Given the description of an element on the screen output the (x, y) to click on. 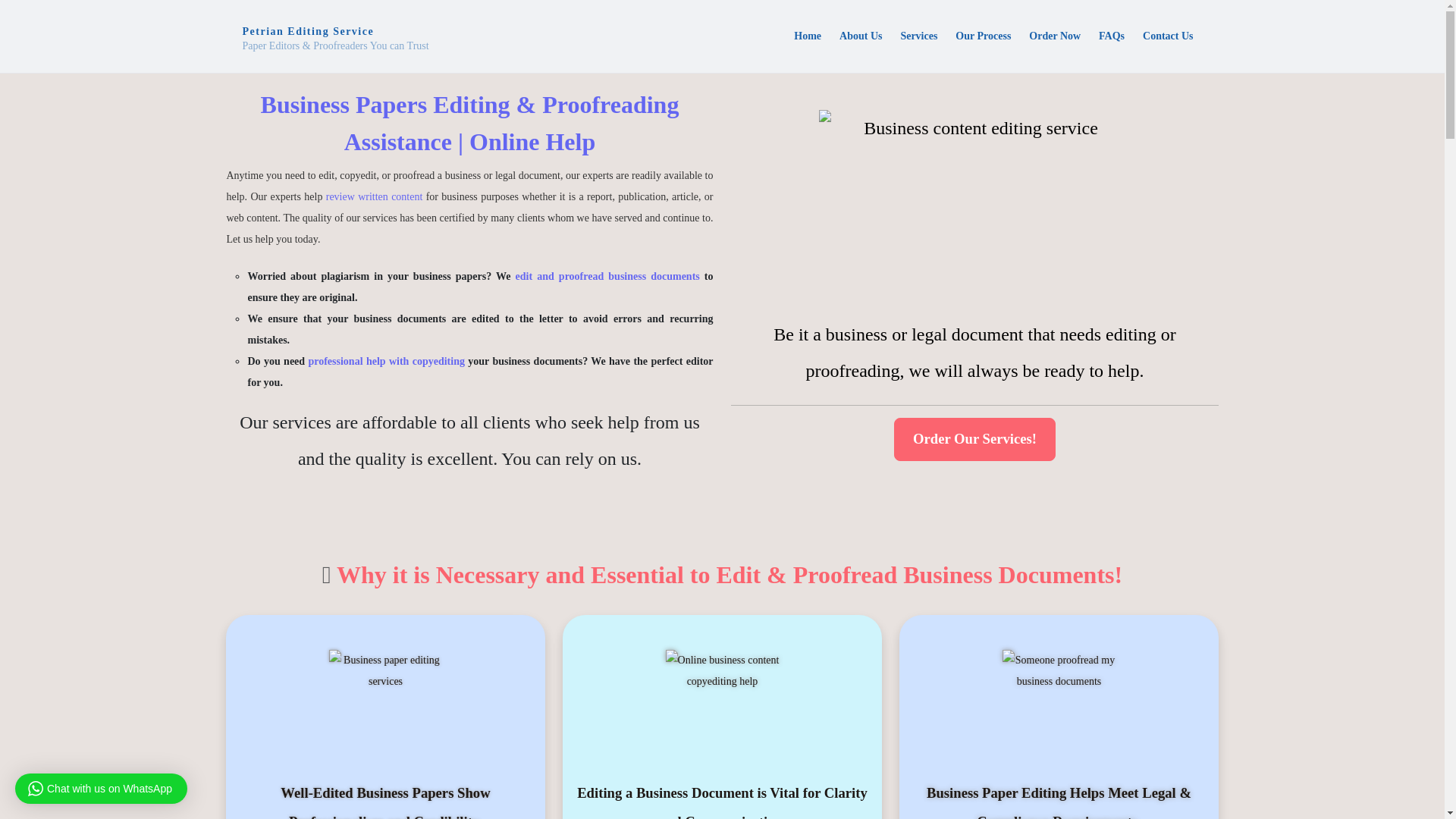
Contact Us (1168, 36)
About Us (860, 36)
professional help with copyediting (385, 360)
Order Our Services! (974, 438)
Our Process (983, 36)
Petrian Editing Service (334, 38)
Order Now (1054, 36)
edit and proofread business documents (607, 276)
review written content (374, 196)
Services (918, 36)
FAQs (1111, 36)
Home (806, 36)
